Given the description of an element on the screen output the (x, y) to click on. 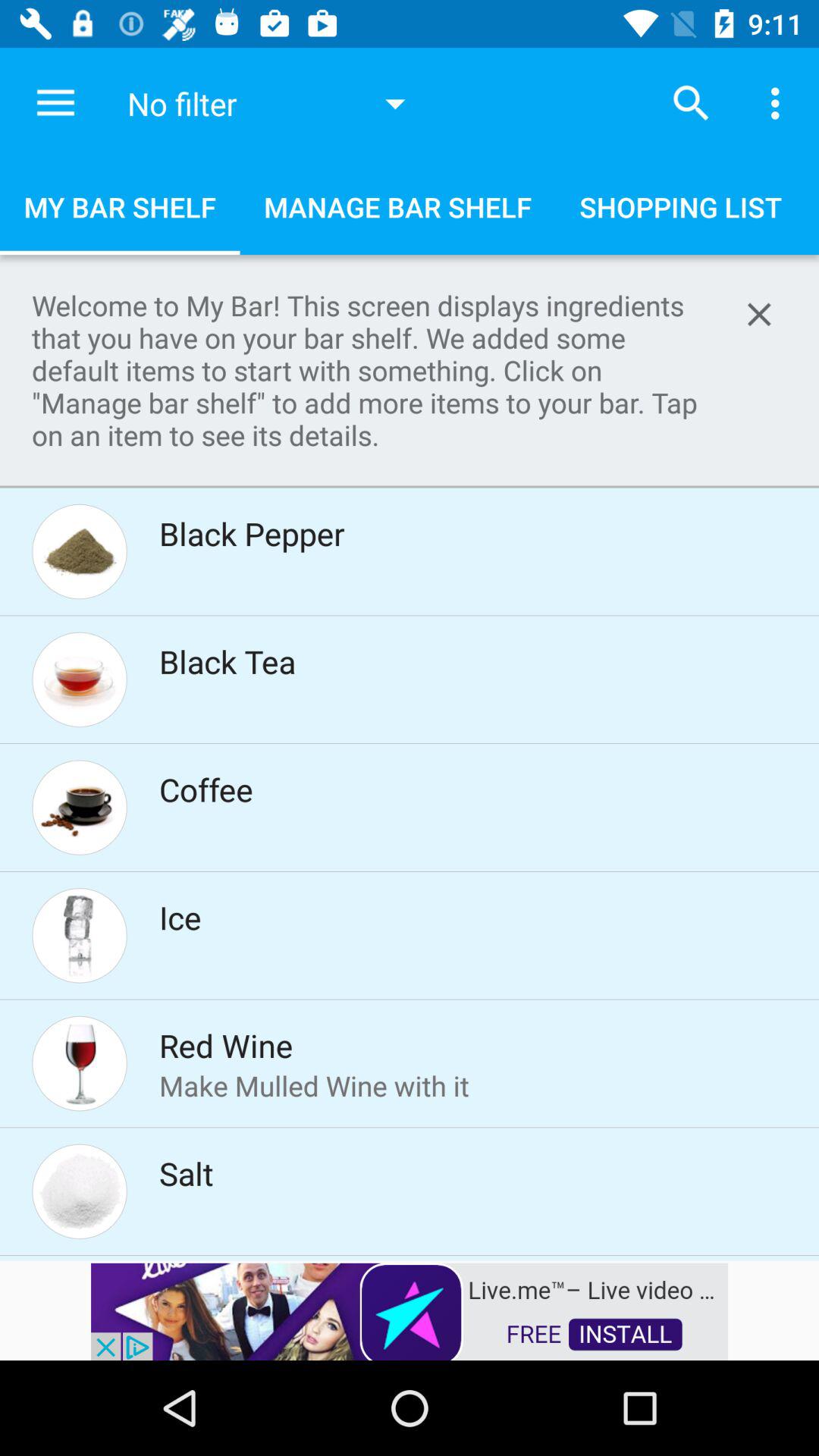
click on the image positioned left to black tea (79, 678)
tap on the image that has the text coffee next to it (79, 807)
select the image which has the text red wine mentioned next to it (79, 1064)
click on search icon (691, 103)
go to the image beside the text black pepper (79, 551)
